Given the description of an element on the screen output the (x, y) to click on. 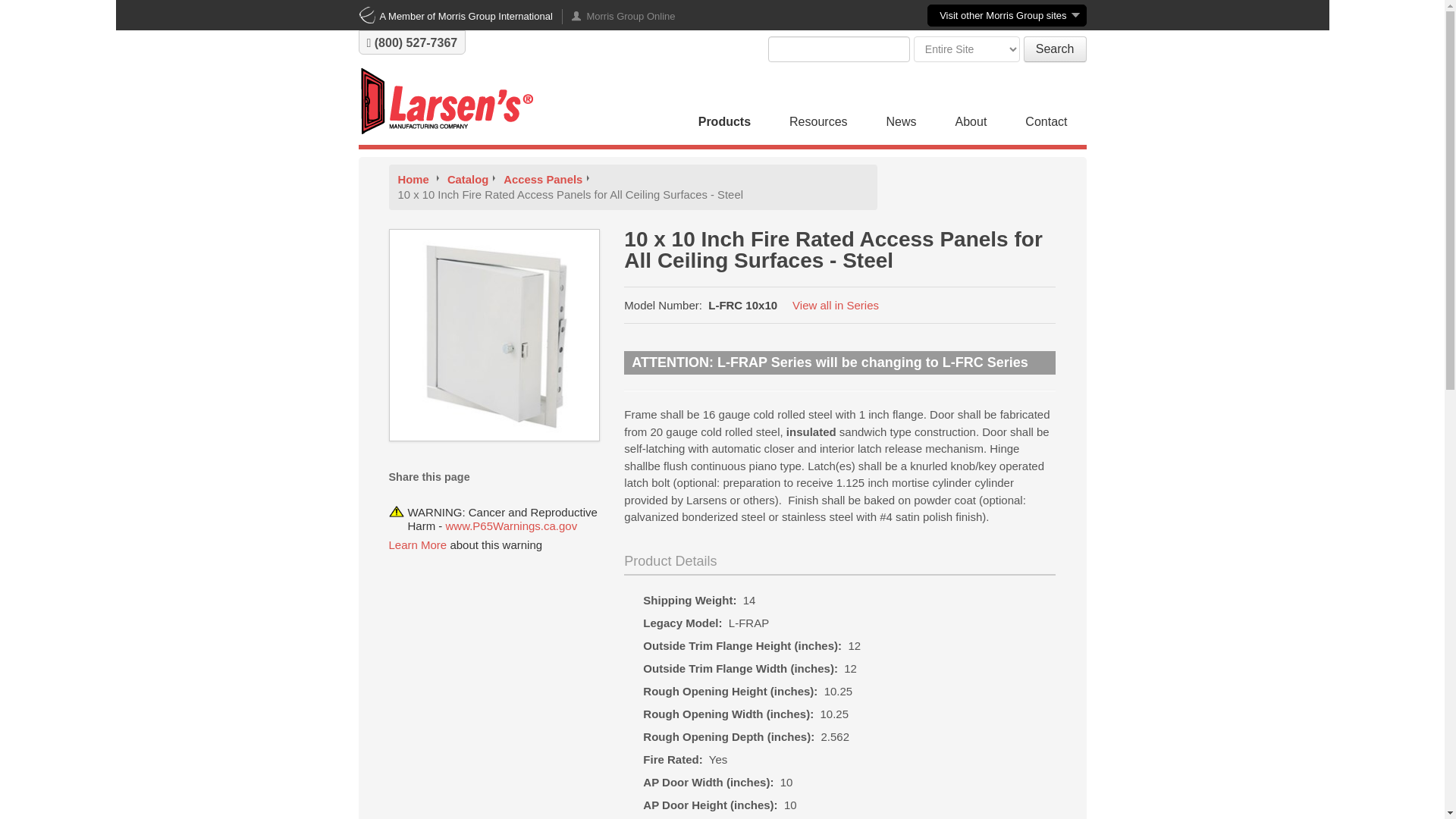
Visit other Morris Group sites (1006, 15)
A Member of Morris Group International (454, 17)
A Member of Morris Group International (454, 17)
Search (1054, 49)
Search (1054, 49)
Morris Group Online (618, 16)
